Given the description of an element on the screen output the (x, y) to click on. 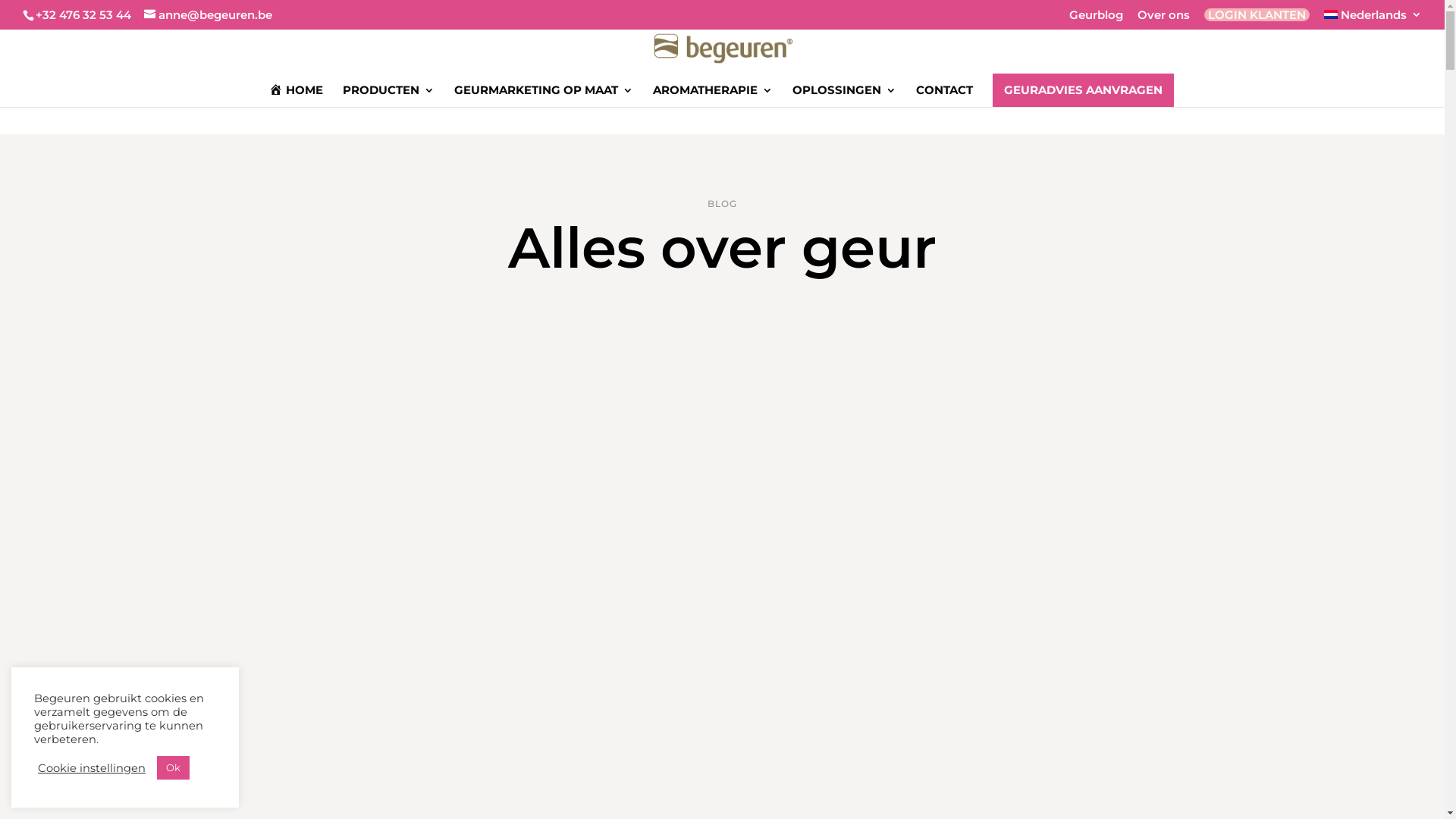
Cookie instellingen Element type: text (91, 768)
anne@begeuren.be Element type: text (208, 14)
GEURMARKETING OP MAAT Element type: text (543, 94)
Nederlands Element type: text (1373, 18)
HOME Element type: text (296, 94)
LOGIN KLANTEN Element type: text (1256, 14)
Ok Element type: text (172, 767)
AROMATHERAPIE Element type: text (712, 94)
CONTACT Element type: text (944, 94)
OPLOSSINGEN Element type: text (844, 94)
GEURADVIES AANVRAGEN Element type: text (1082, 89)
Geurblog Element type: text (1096, 18)
+32 476 32 53 44 Element type: text (83, 14)
Over ons Element type: text (1163, 18)
PRODUCTEN Element type: text (388, 94)
